Given the description of an element on the screen output the (x, y) to click on. 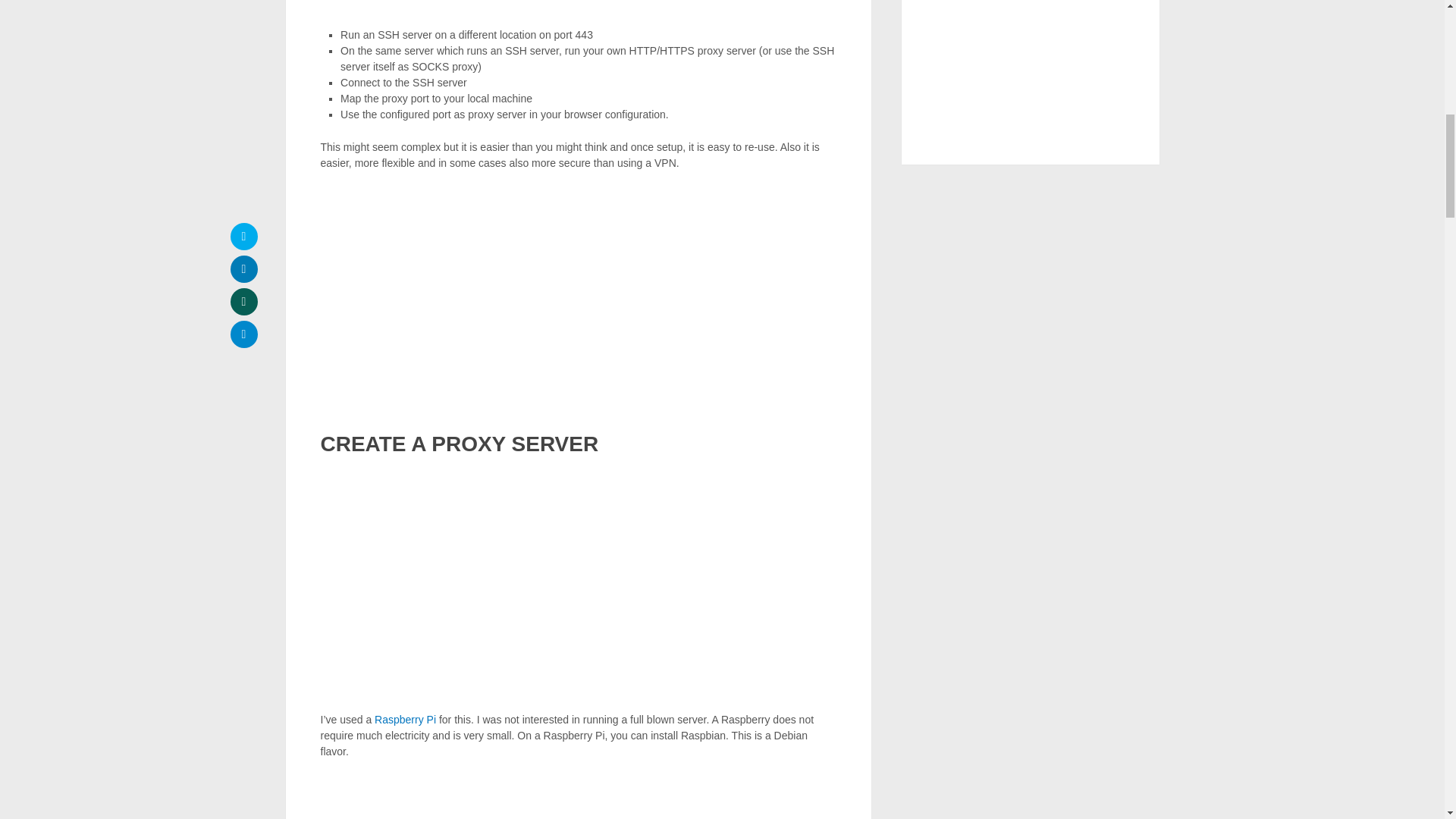
Raspberry Pi (404, 719)
